Given the description of an element on the screen output the (x, y) to click on. 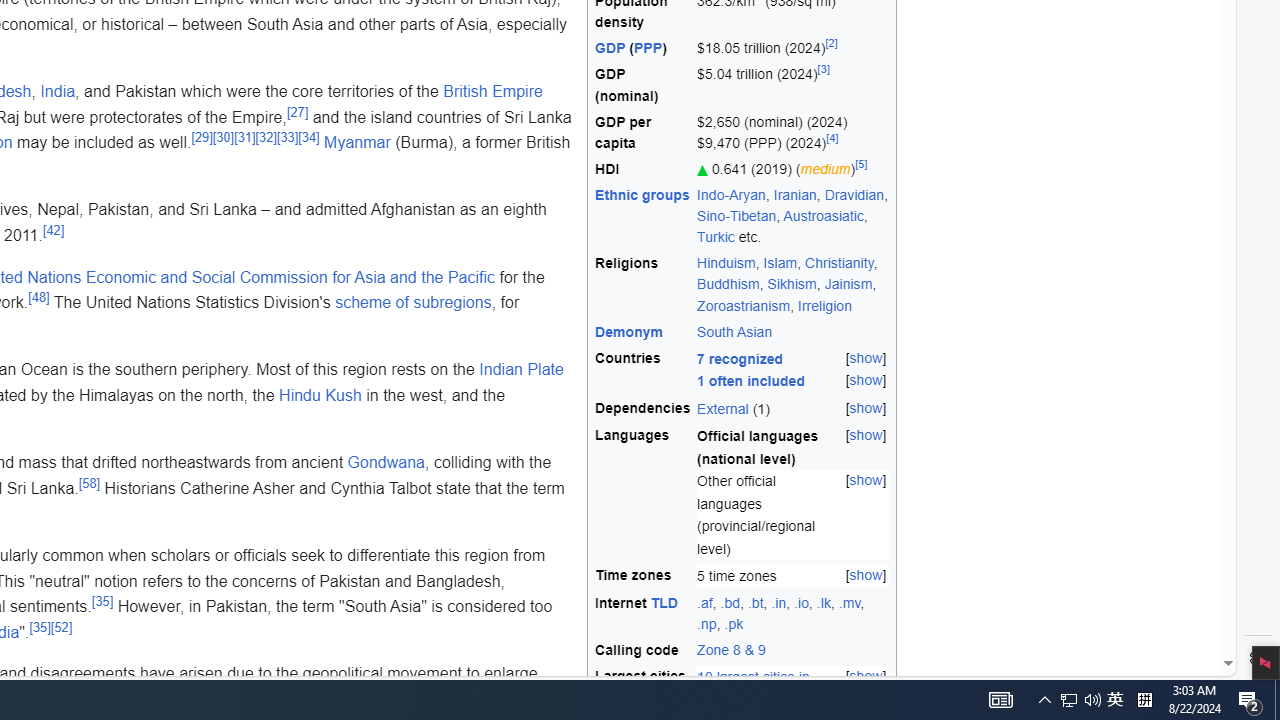
South Asian (793, 331)
TLD (664, 602)
.lk (823, 602)
Zone 8 & 9 (793, 651)
GDP (nominal) (643, 85)
[29] (201, 136)
10 largest cities in South Asia (753, 687)
7 recognized (740, 358)
Countries (643, 369)
.in (778, 602)
Christianity (839, 263)
Indo-Aryan (731, 195)
South Asian (735, 331)
South Asian (735, 331)
